Given the description of an element on the screen output the (x, y) to click on. 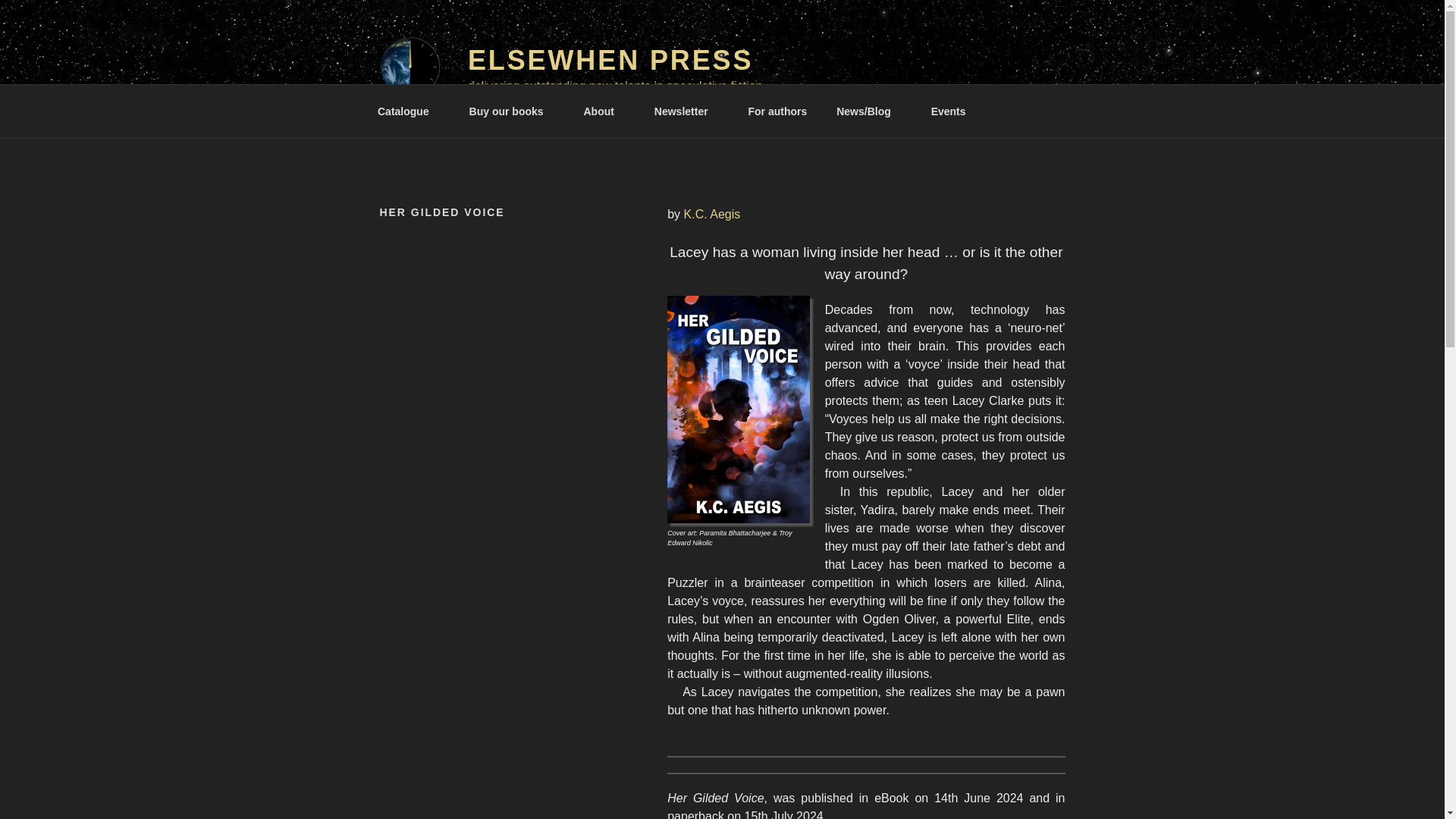
Buy our books (511, 110)
Newsletter (686, 110)
For authors (778, 110)
K.C. Aegis (712, 214)
About (603, 110)
ELSEWHEN PRESS (609, 60)
Catalogue (408, 110)
Events (947, 110)
